Given the description of an element on the screen output the (x, y) to click on. 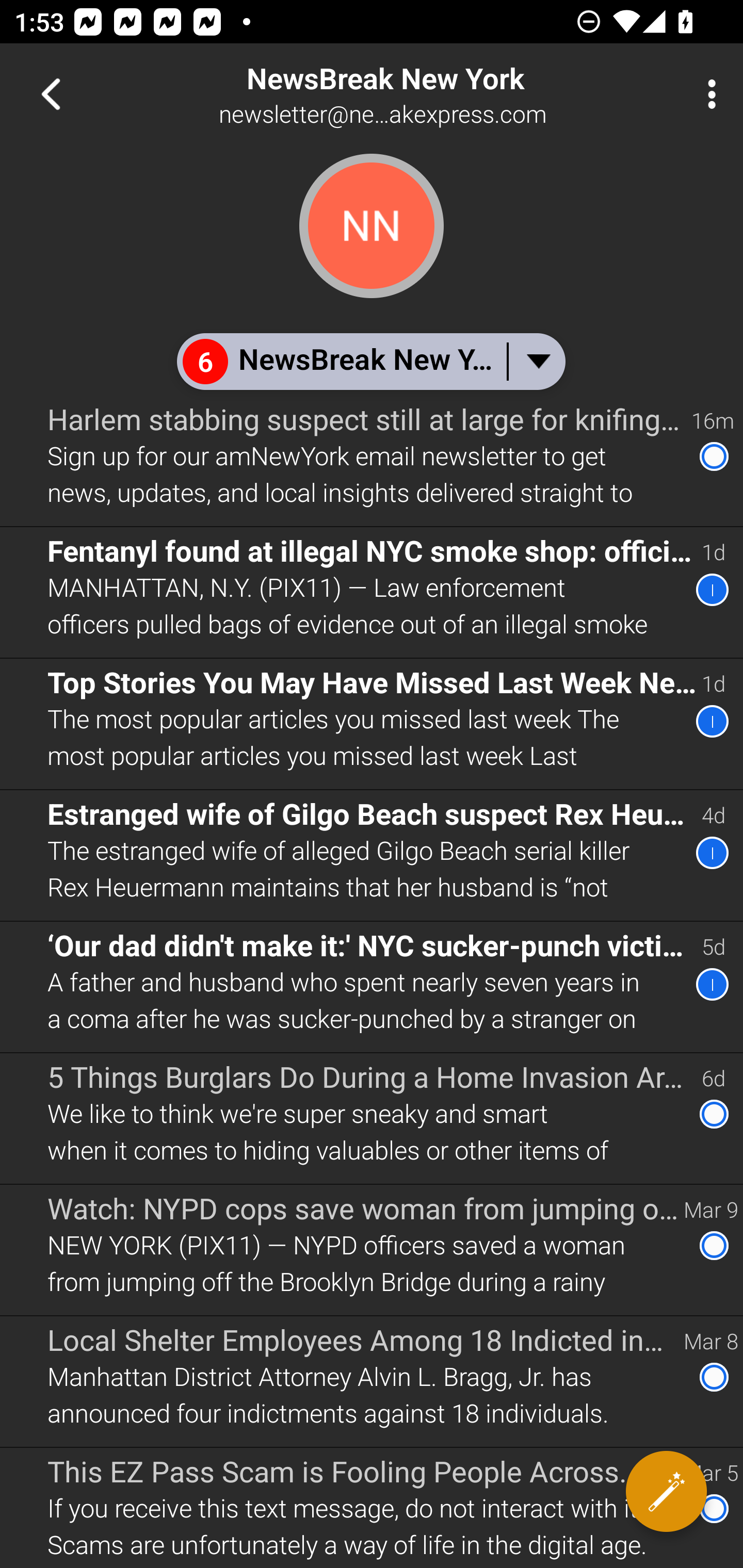
Navigate up (50, 93)
NewsBreak New York newsletter@newsbreakexpress.com (436, 93)
More Options (706, 93)
6 NewsBreak New York & You (370, 361)
